Given the description of an element on the screen output the (x, y) to click on. 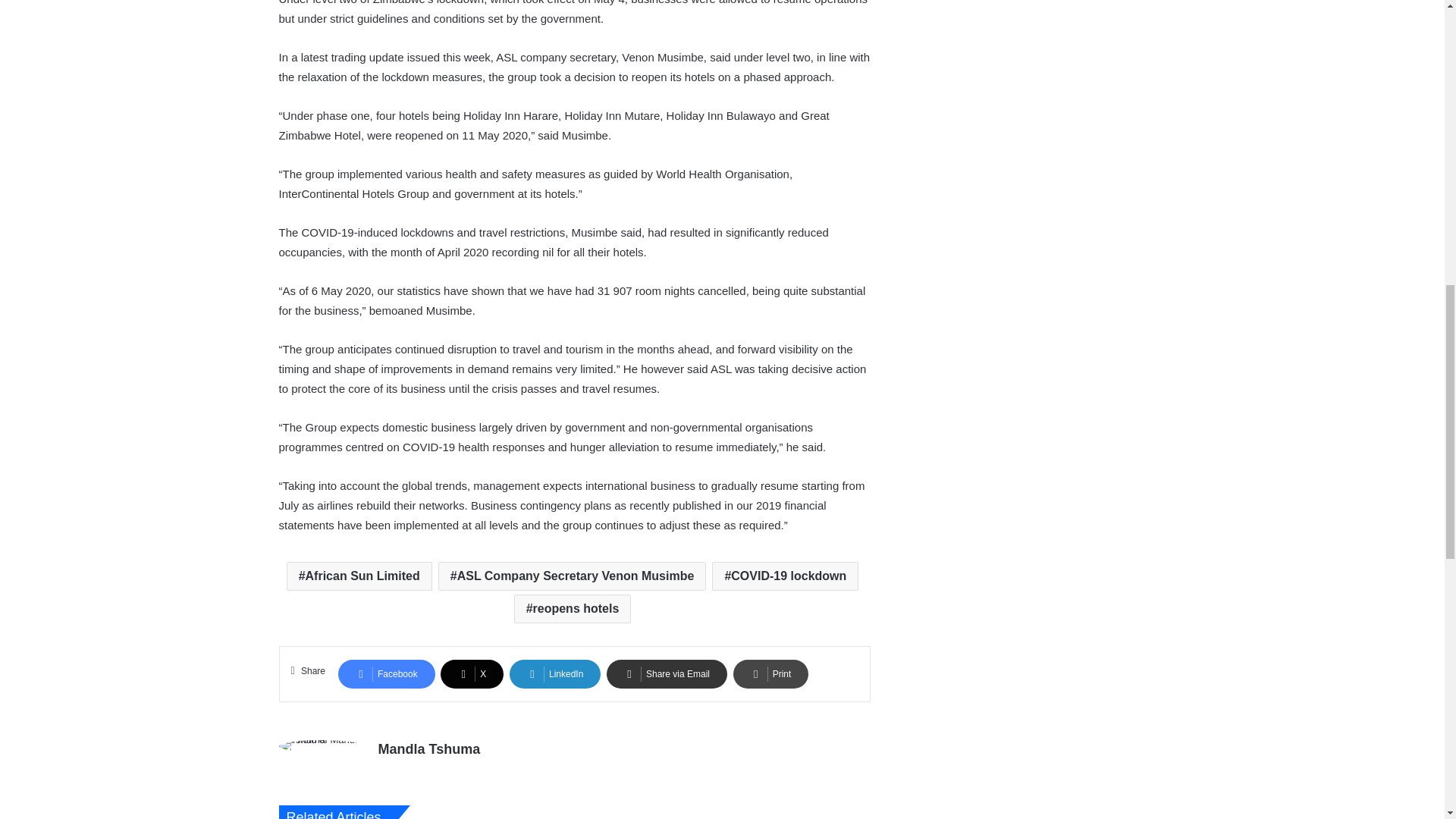
LinkedIn (554, 674)
Facebook (386, 674)
ASL Company Secretary Venon Musimbe (572, 575)
Share via Email (666, 674)
Share via Email (666, 674)
reopens hotels (572, 608)
African Sun Limited (359, 575)
Facebook (386, 674)
Print (771, 674)
LinkedIn (554, 674)
